Given the description of an element on the screen output the (x, y) to click on. 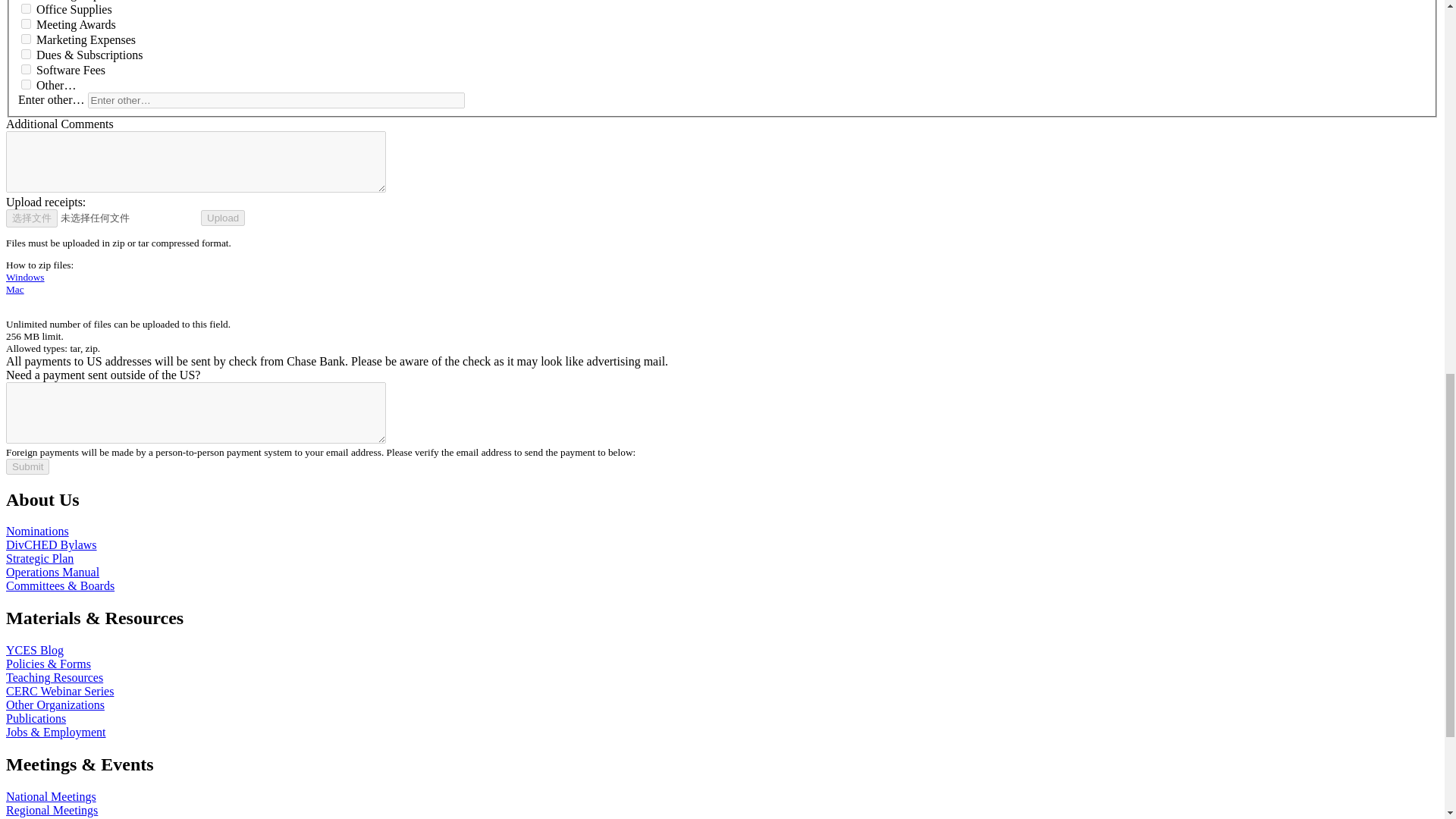
CERC Webinar Series (59, 690)
Upload (222, 217)
Mac (14, 288)
Windows (25, 276)
DivCHED Bylaws (51, 544)
Strategic Plan (39, 558)
Other Organizations (54, 704)
Office Supplies (25, 8)
Submit (27, 466)
Regional Meetings (51, 809)
